Given the description of an element on the screen output the (x, y) to click on. 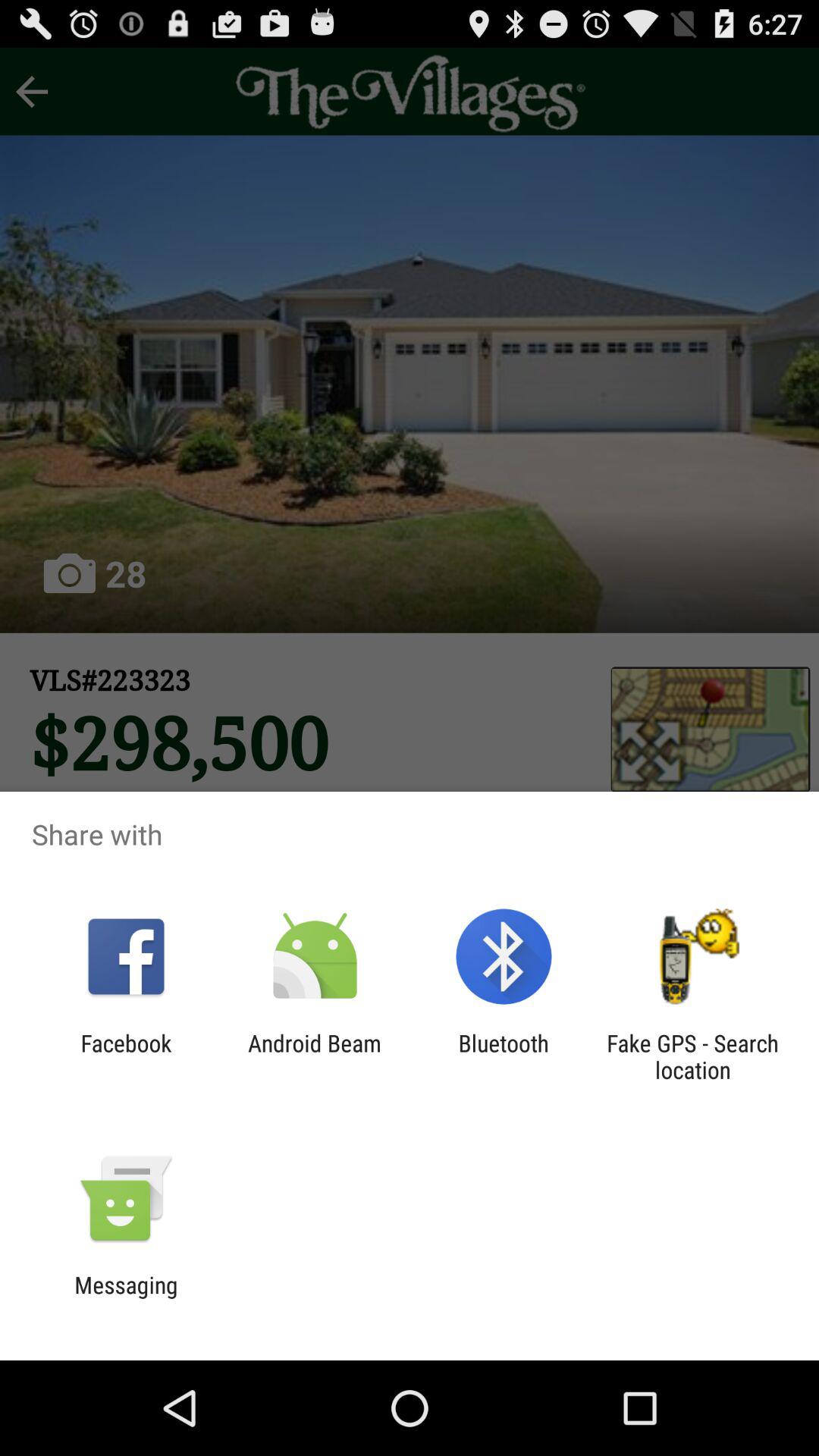
turn on the icon at the bottom right corner (692, 1056)
